Given the description of an element on the screen output the (x, y) to click on. 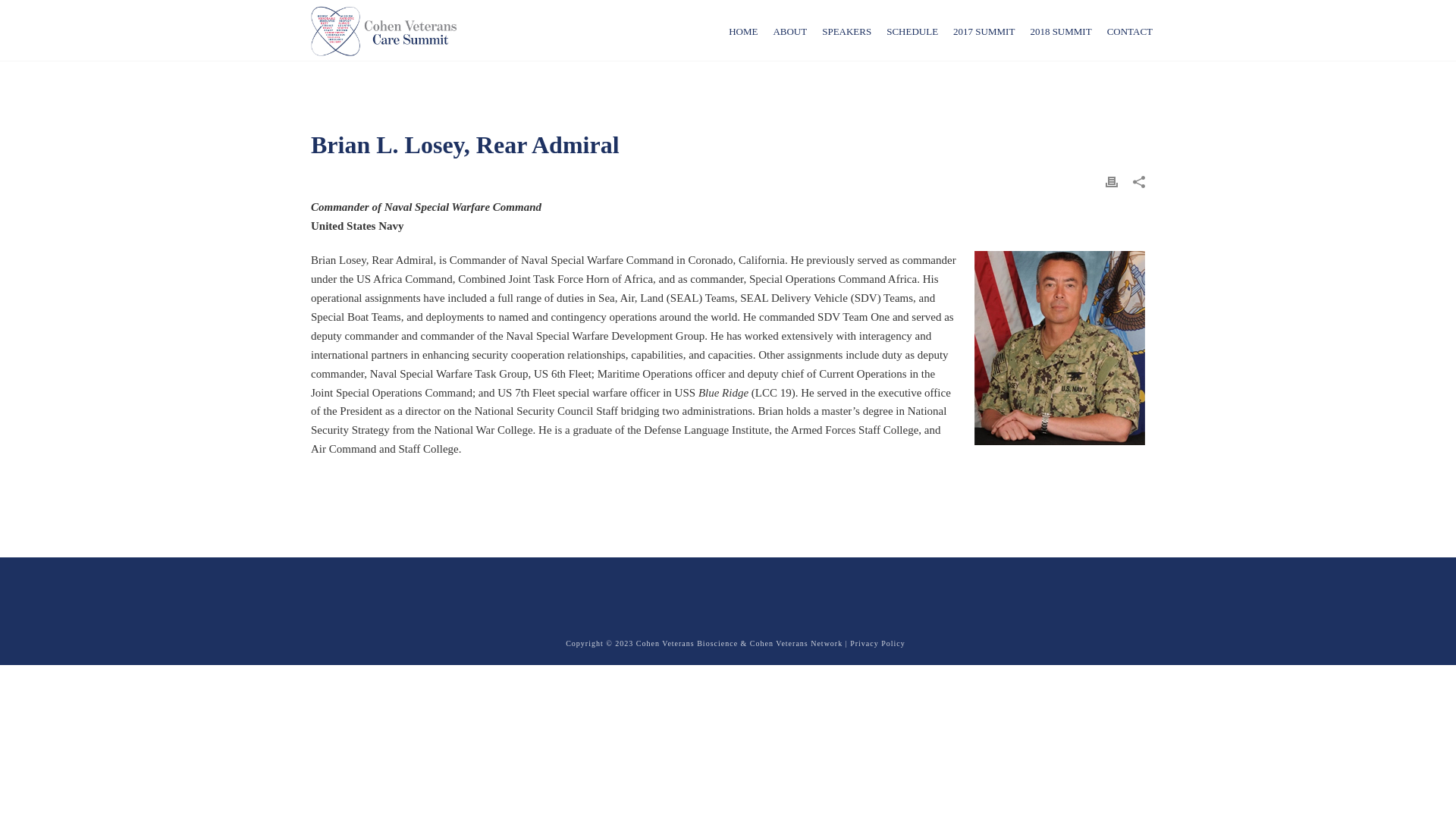
Privacy Policy (877, 643)
CONTACT (1129, 30)
CONTACT (1129, 30)
SPEAKERS (846, 30)
2018 SUMMIT (1060, 30)
SPEAKERS (846, 30)
2018 SUMMIT (1060, 30)
2017 SUMMIT (983, 30)
2017 SUMMIT (983, 30)
SCHEDULE (911, 30)
